Given the description of an element on the screen output the (x, y) to click on. 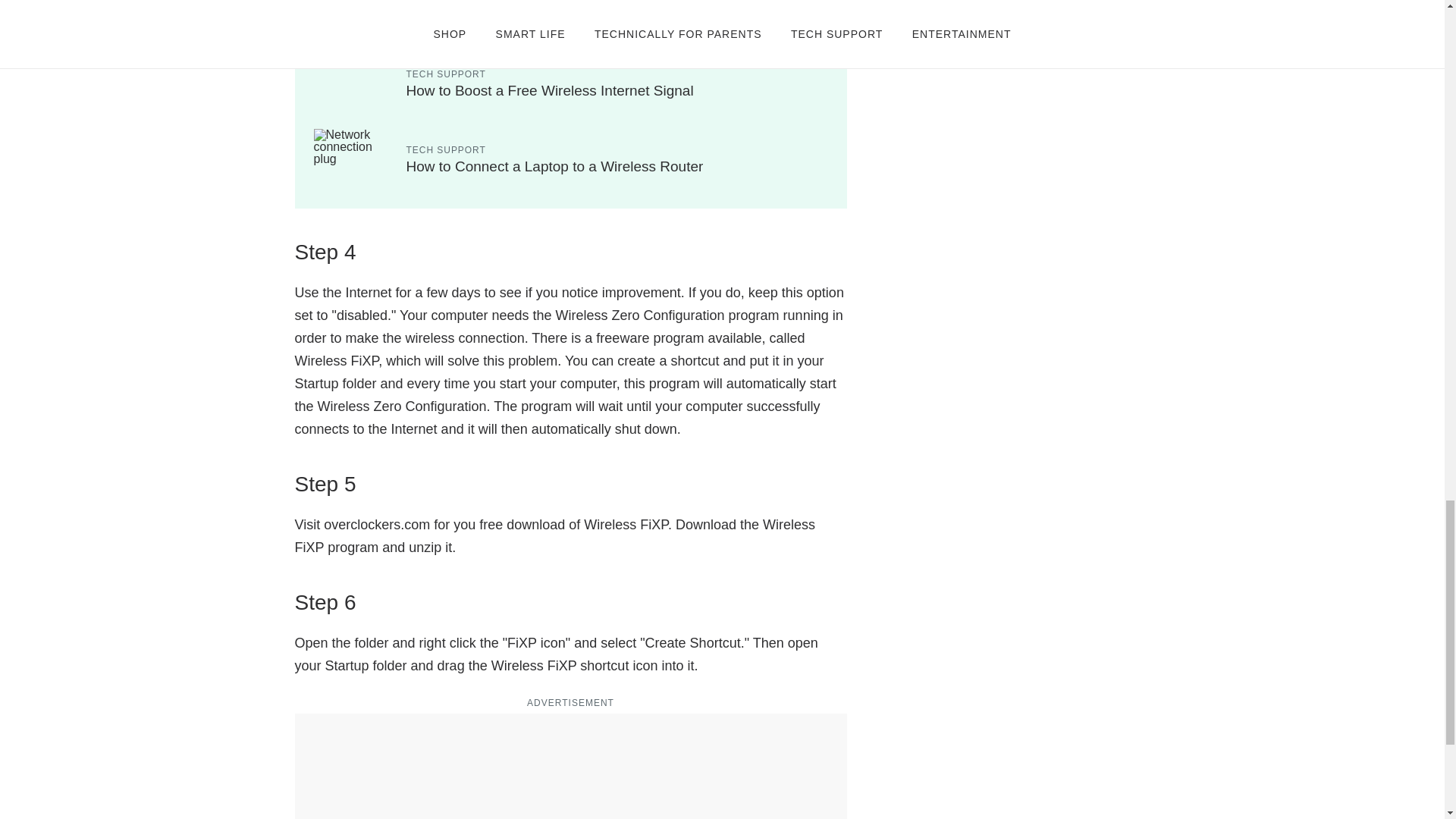
How to Find Out What Type of Wireless Card Is in a Laptop (595, 14)
How to Connect a Laptop to a Wireless Router (554, 166)
How to Boost a Free Wireless Internet Signal (550, 90)
